Given the description of an element on the screen output the (x, y) to click on. 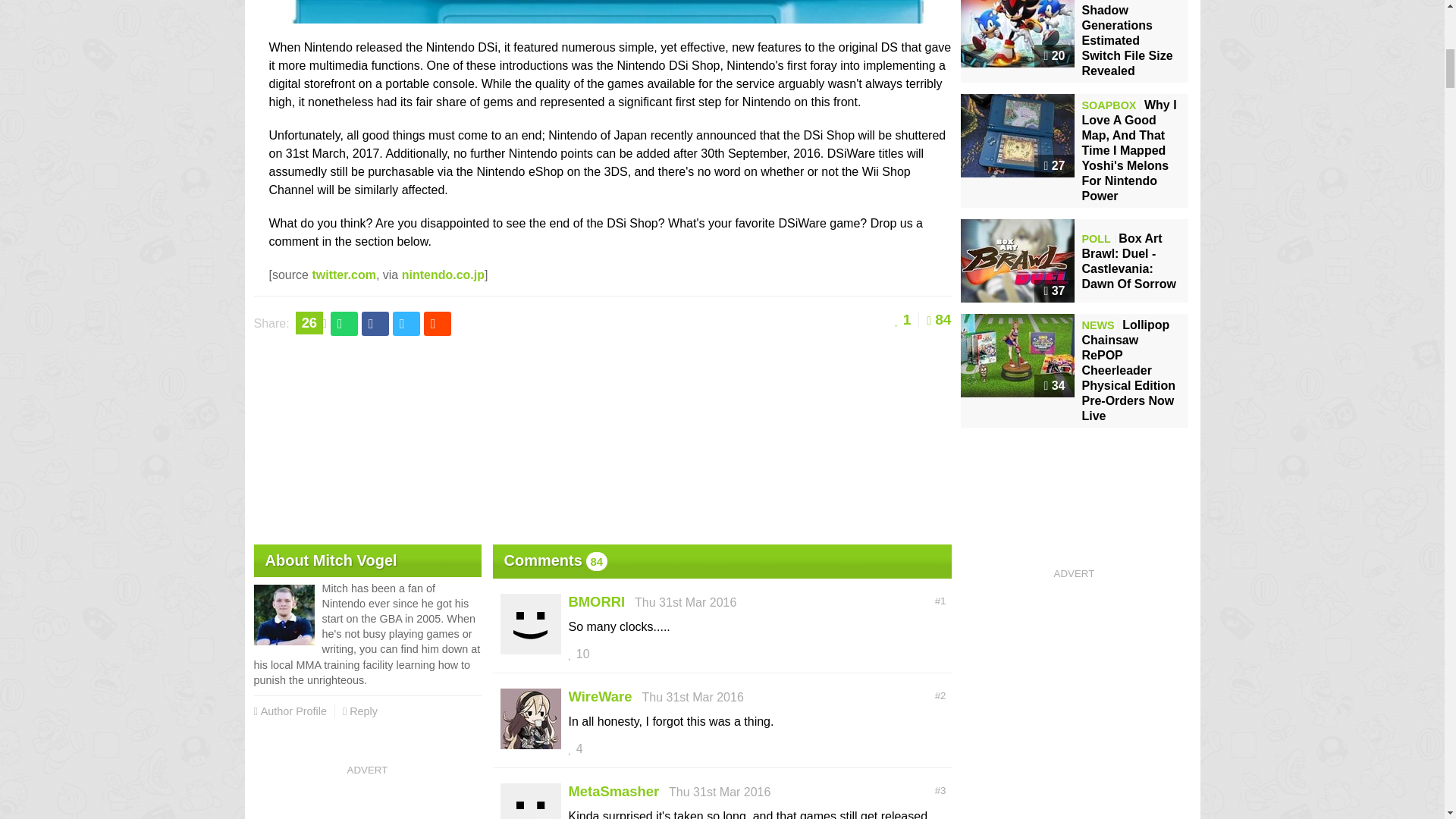
It's been a good run (608, 13)
